Given the description of an element on the screen output the (x, y) to click on. 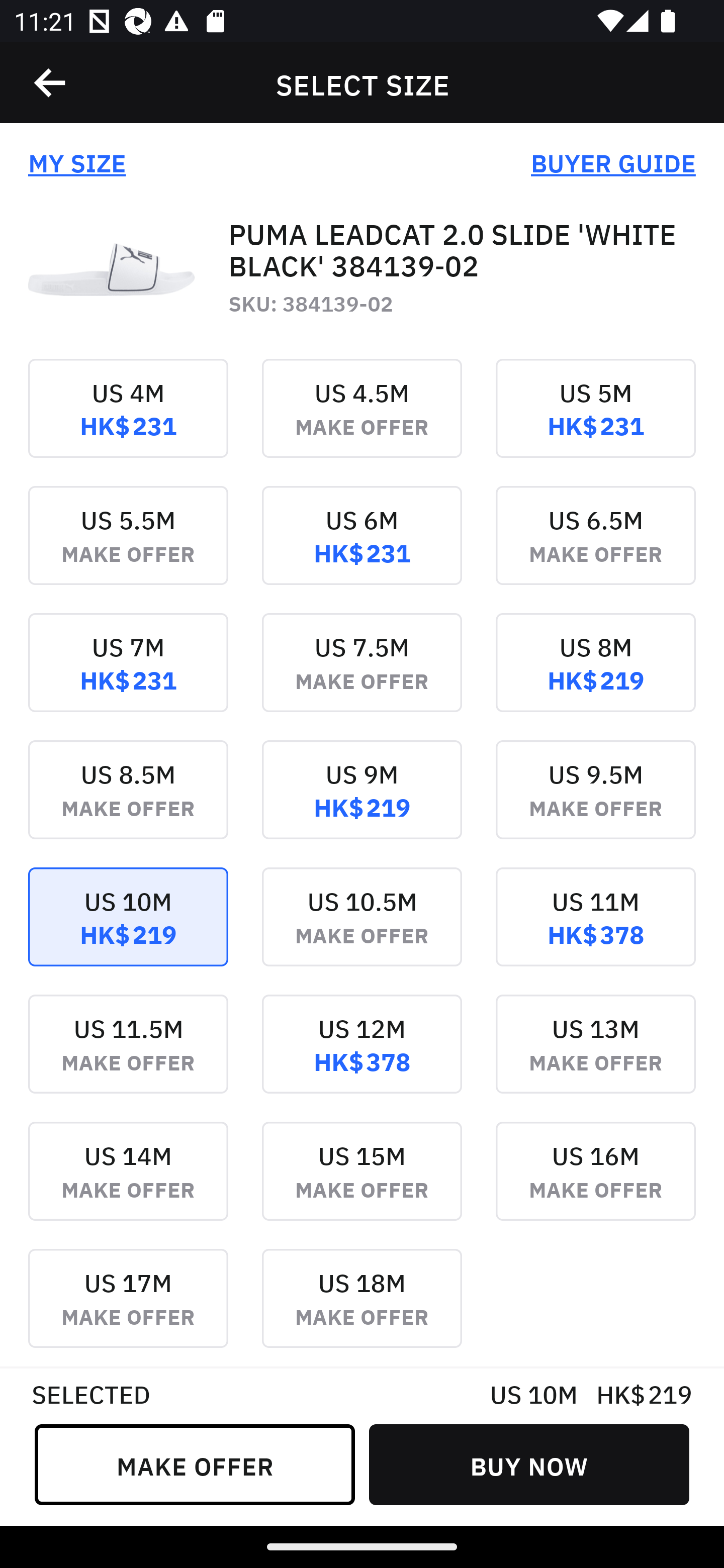
 (50, 83)
US 4M HK$ 231 (128, 422)
US 4.5M MAKE OFFER (361, 422)
US 5M HK$ 231 (595, 422)
US 5.5M MAKE OFFER (128, 549)
US 6M HK$ 231 (361, 549)
US 6.5M MAKE OFFER (595, 549)
US 7M HK$ 231 (128, 676)
US 7.5M MAKE OFFER (361, 676)
US 8M HK$ 219 (595, 676)
US 8.5M MAKE OFFER (128, 803)
US 9M HK$ 219 (361, 803)
US 9.5M MAKE OFFER (595, 803)
US 10M HK$ 219 (128, 930)
US 10.5M MAKE OFFER (361, 930)
US 11M HK$ 378 (595, 930)
US 11.5M MAKE OFFER (128, 1057)
US 12M HK$ 378 (361, 1057)
US 13M MAKE OFFER (595, 1057)
US 14M MAKE OFFER (128, 1184)
US 15M MAKE OFFER (361, 1184)
US 16M MAKE OFFER (595, 1184)
US 17M MAKE OFFER (128, 1306)
US 18M MAKE OFFER (361, 1306)
MAKE OFFER (194, 1464)
BUY NOW (529, 1464)
